Given the description of an element on the screen output the (x, y) to click on. 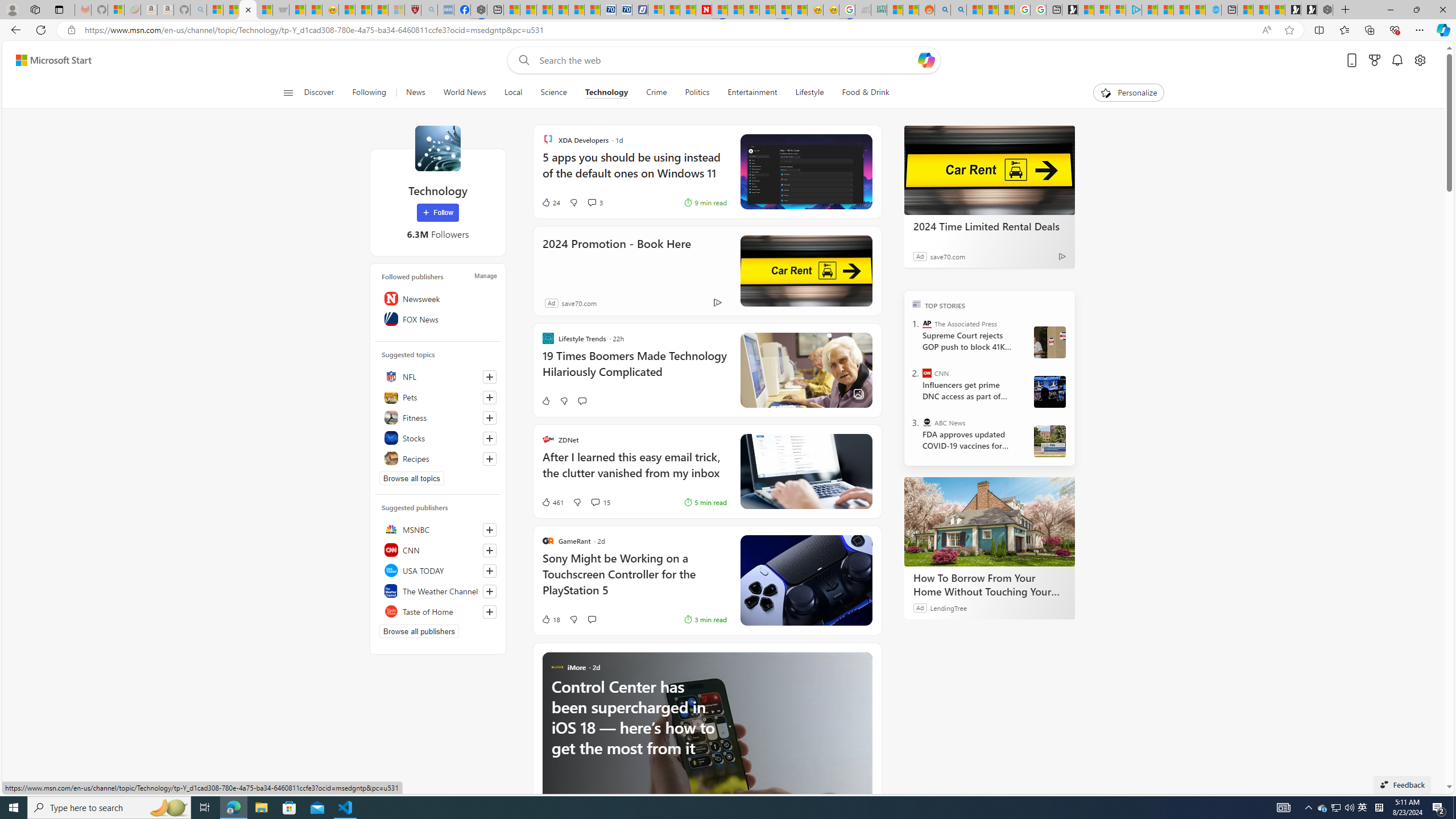
24 Like (549, 202)
ABC News (927, 422)
save70.com (579, 302)
View comments 15 Comment (594, 501)
